Given the description of an element on the screen output the (x, y) to click on. 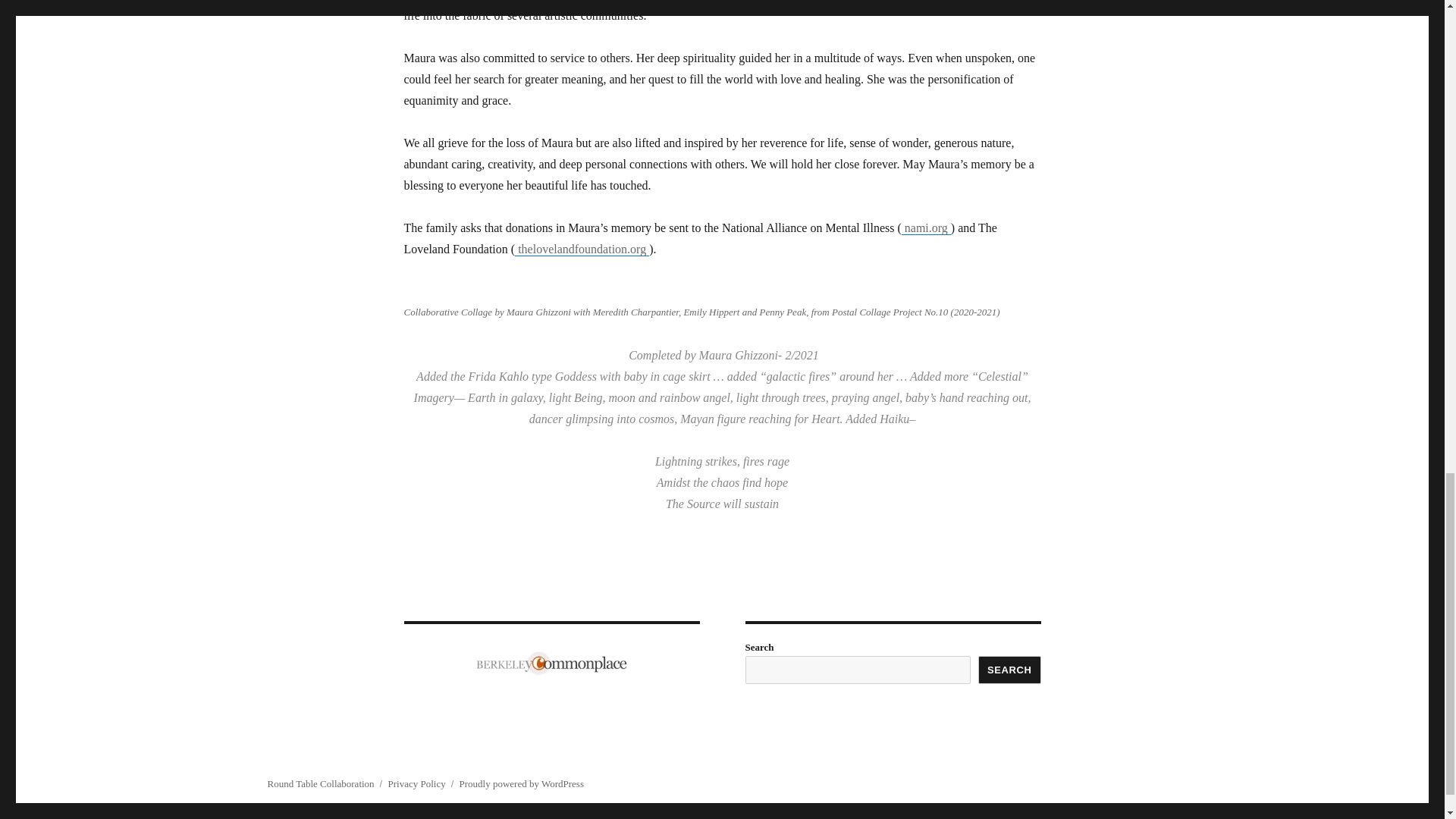
thelovelandfoundation.org (582, 248)
SEARCH (1009, 669)
Privacy Policy (416, 783)
Round Table Collaboration (320, 783)
nami.org (925, 227)
Proudly powered by WordPress (521, 783)
